Given the description of an element on the screen output the (x, y) to click on. 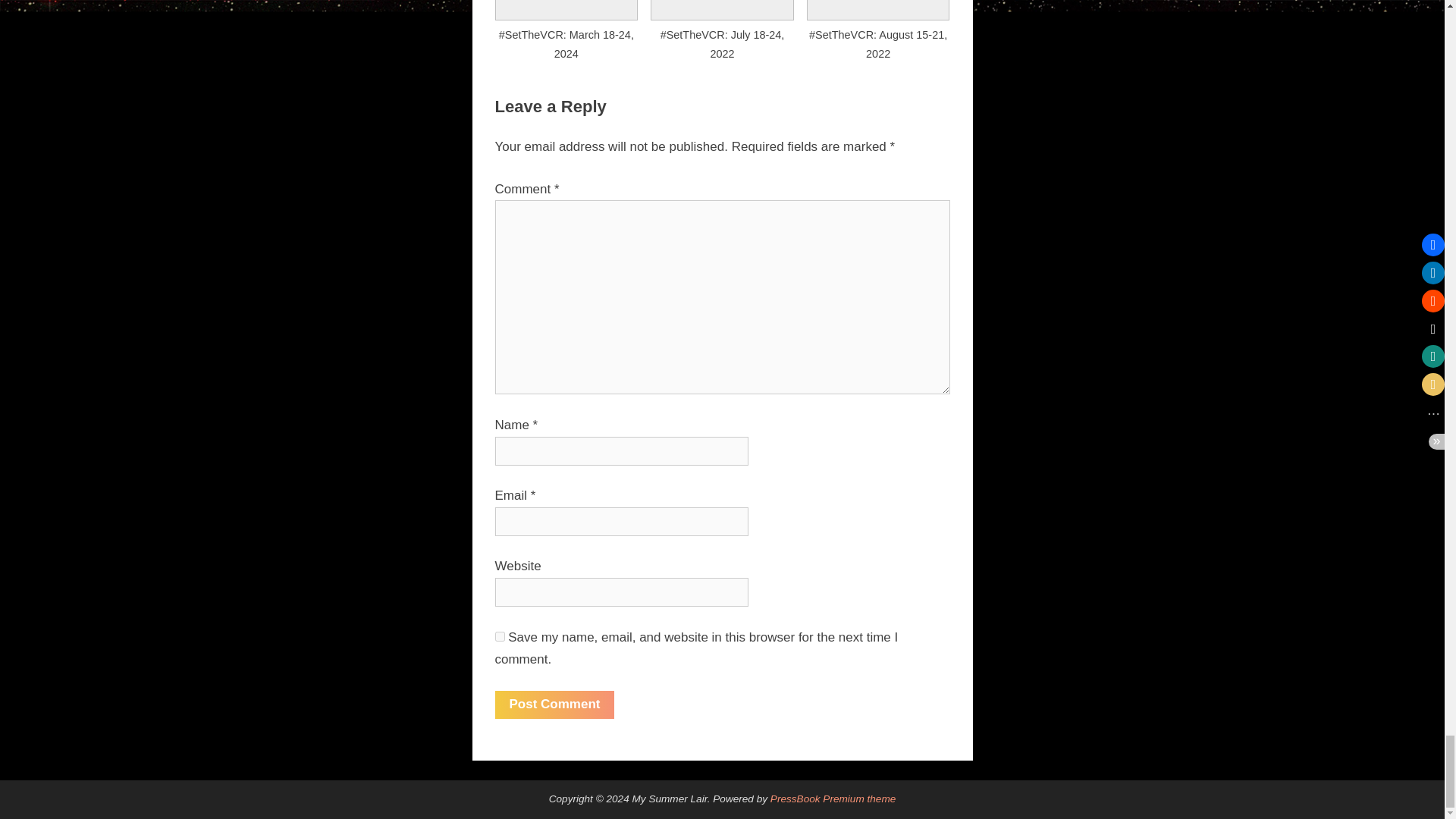
yes (499, 636)
Post Comment (554, 705)
